Given the description of an element on the screen output the (x, y) to click on. 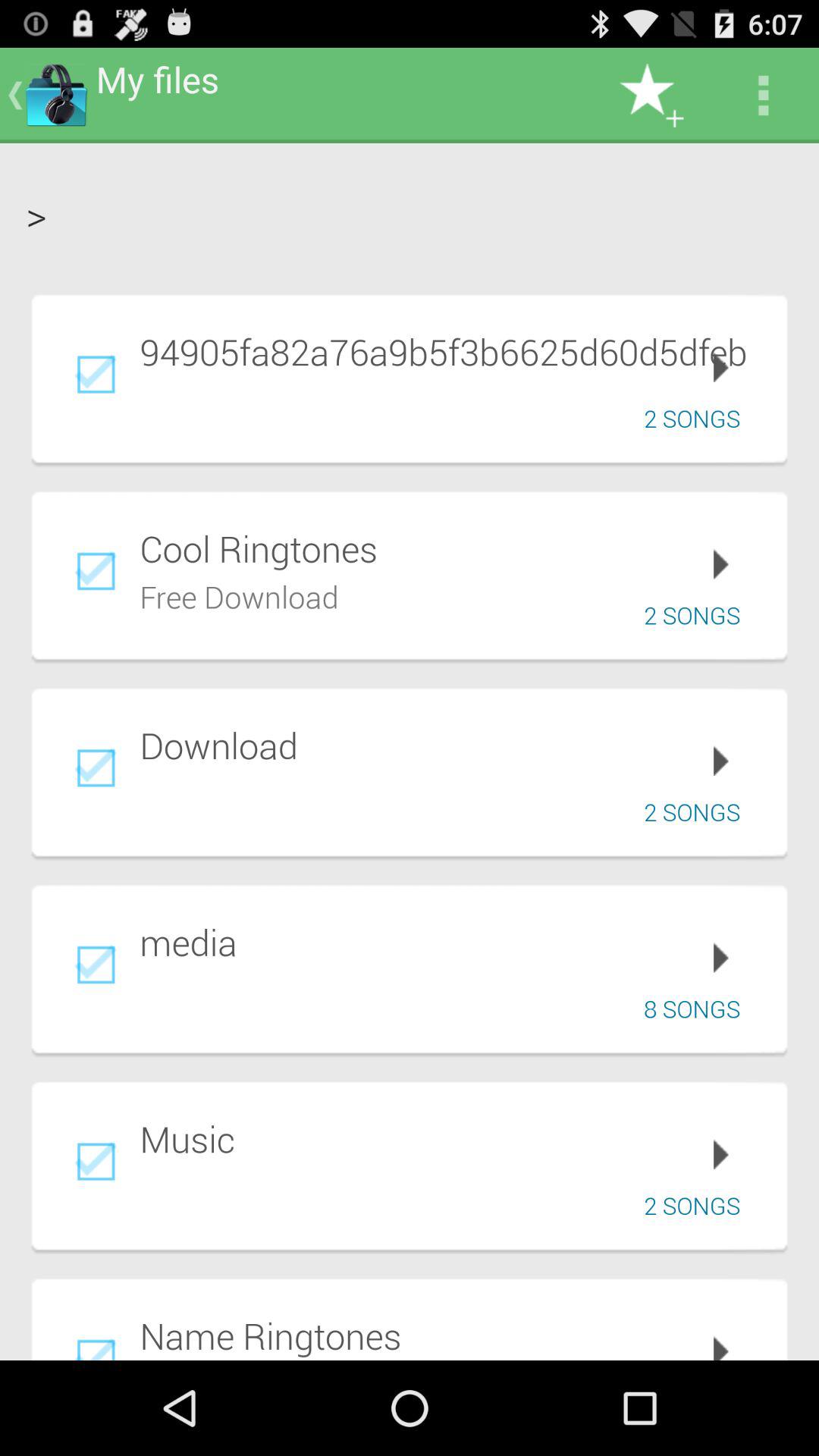
turn off the icon above 2 songs icon (452, 351)
